Given the description of an element on the screen output the (x, y) to click on. 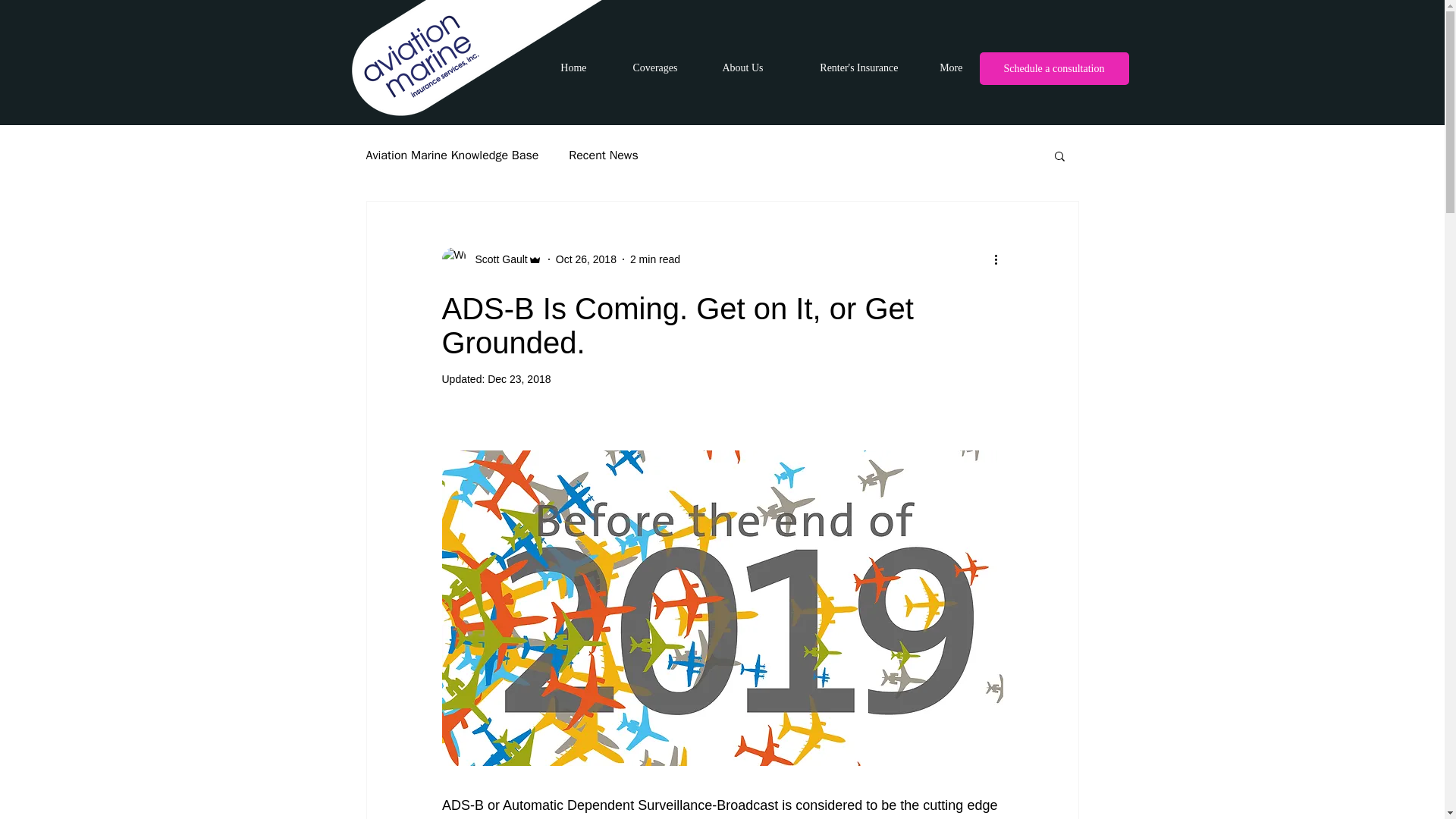
Renter's Insurance (842, 67)
Home (562, 67)
Dec 23, 2018 (518, 378)
Schedule a consultation (1054, 68)
Coverages (642, 67)
2 min read (654, 259)
Scott Gault (496, 259)
About Us (731, 67)
Oct 26, 2018 (585, 259)
Aviation Marine Knowledge Base (451, 154)
Scott Gault (491, 259)
Recent News (603, 154)
